Given the description of an element on the screen output the (x, y) to click on. 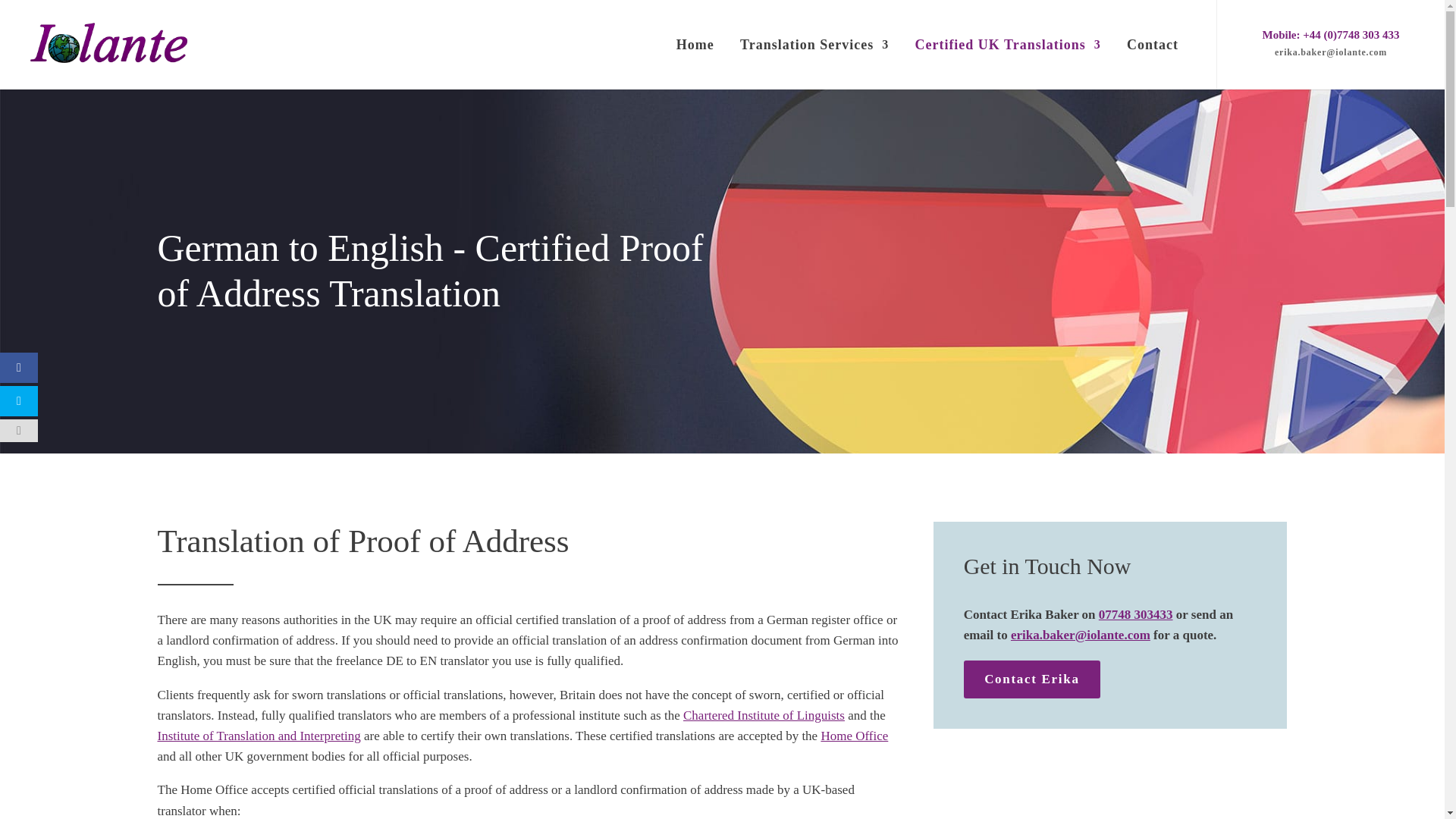
Translation Services (813, 63)
Certified UK Translations (1007, 63)
Home (695, 63)
Contact (1151, 63)
